Given the description of an element on the screen output the (x, y) to click on. 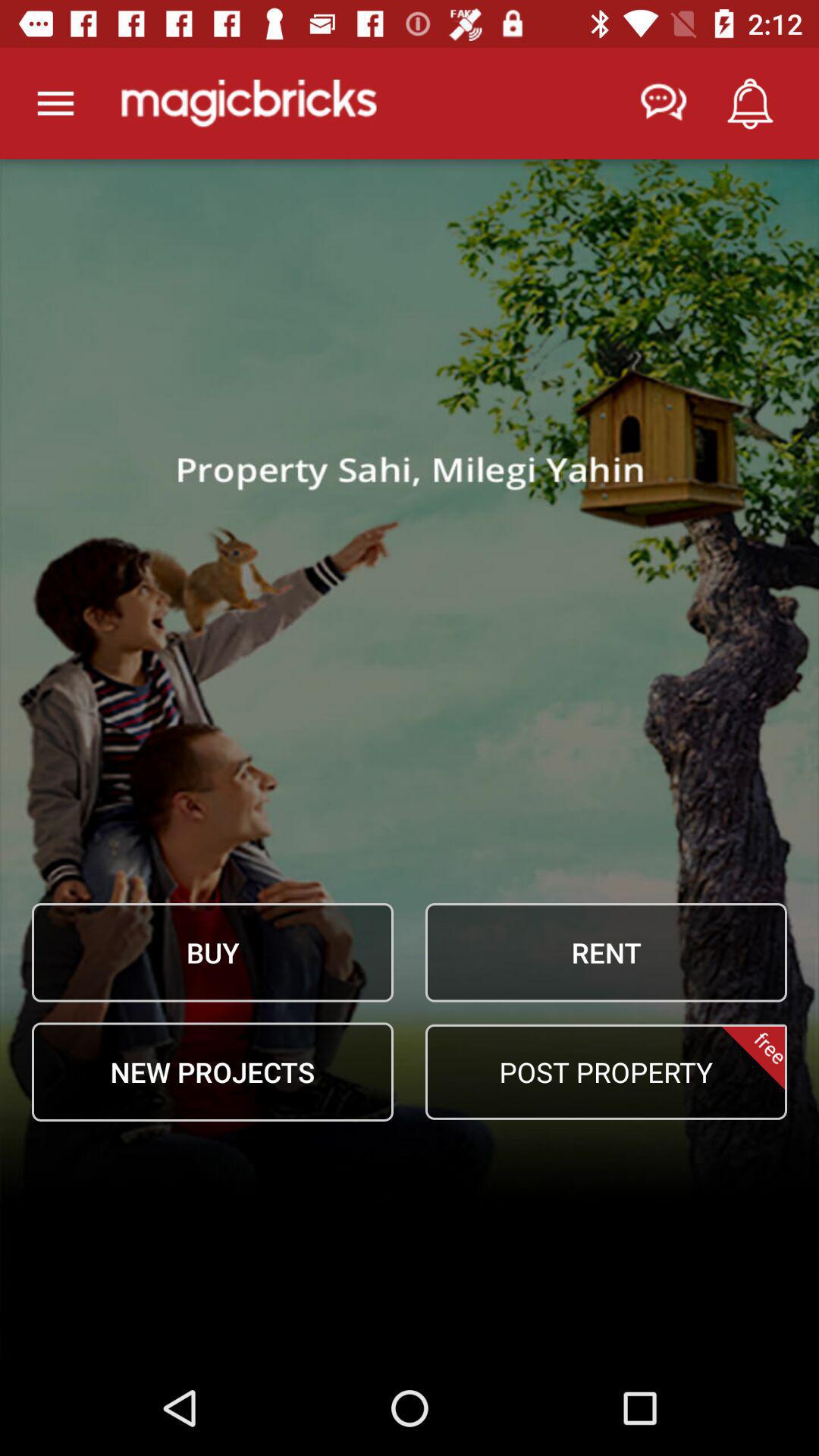
swipe to new projects (212, 1071)
